Given the description of an element on the screen output the (x, y) to click on. 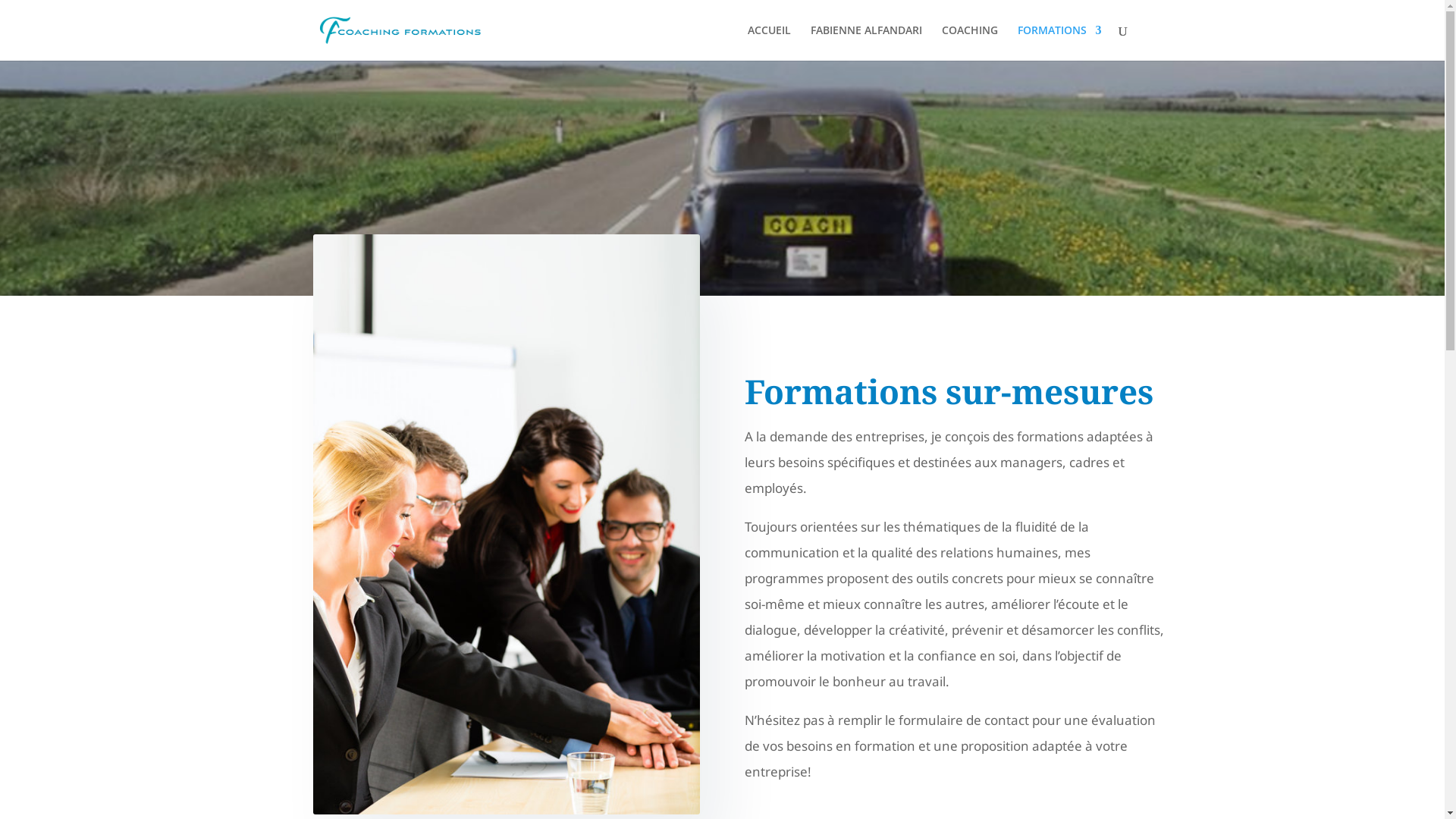
FORMATIONS Element type: text (1059, 42)
ACCUEIL Element type: text (768, 42)
FABIENNE ALFANDARI Element type: text (865, 42)
20757382_s Element type: hover (505, 524)
COACHING Element type: text (969, 42)
